Given the description of an element on the screen output the (x, y) to click on. 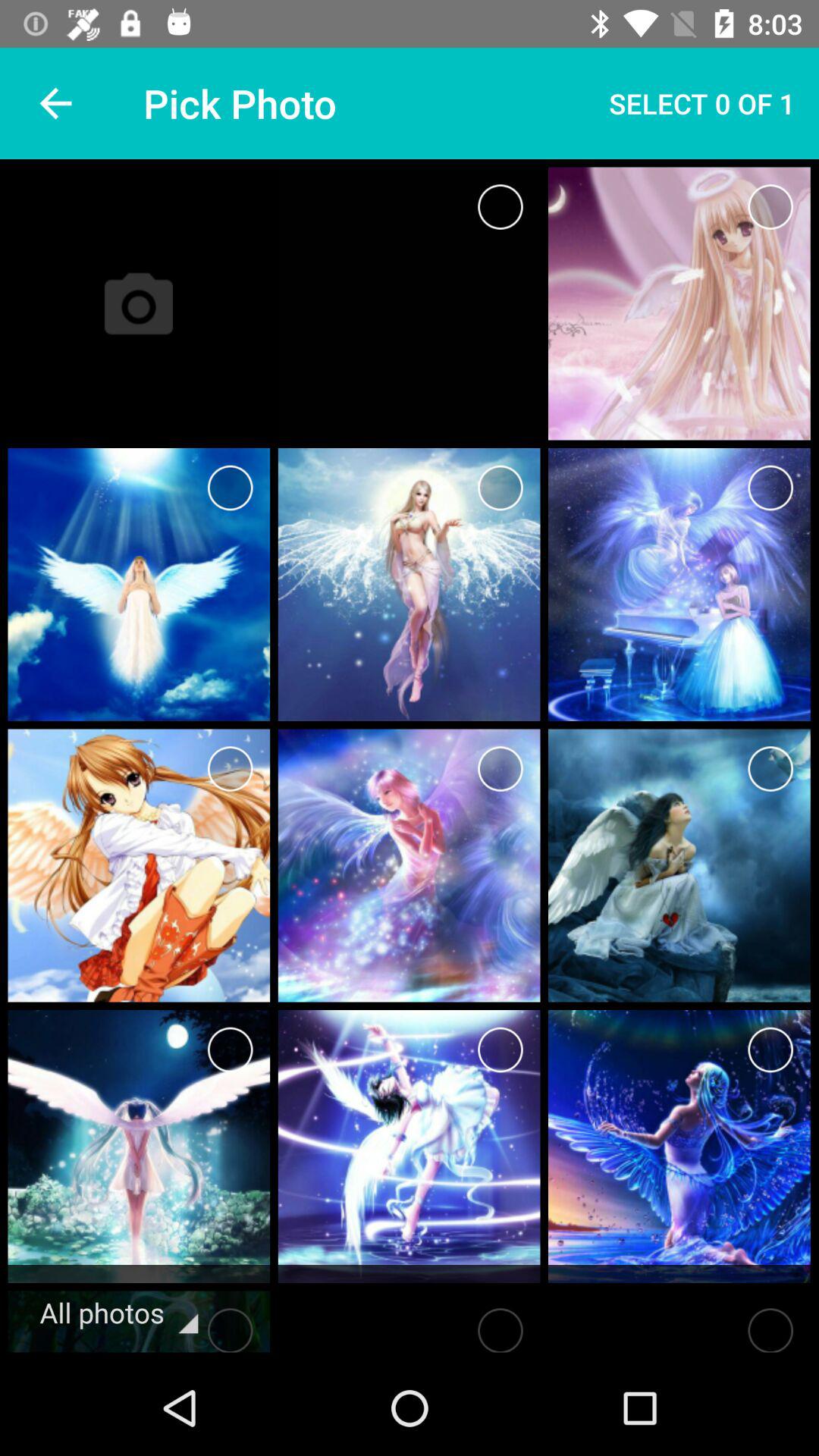
select photo (770, 1049)
